Given the description of an element on the screen output the (x, y) to click on. 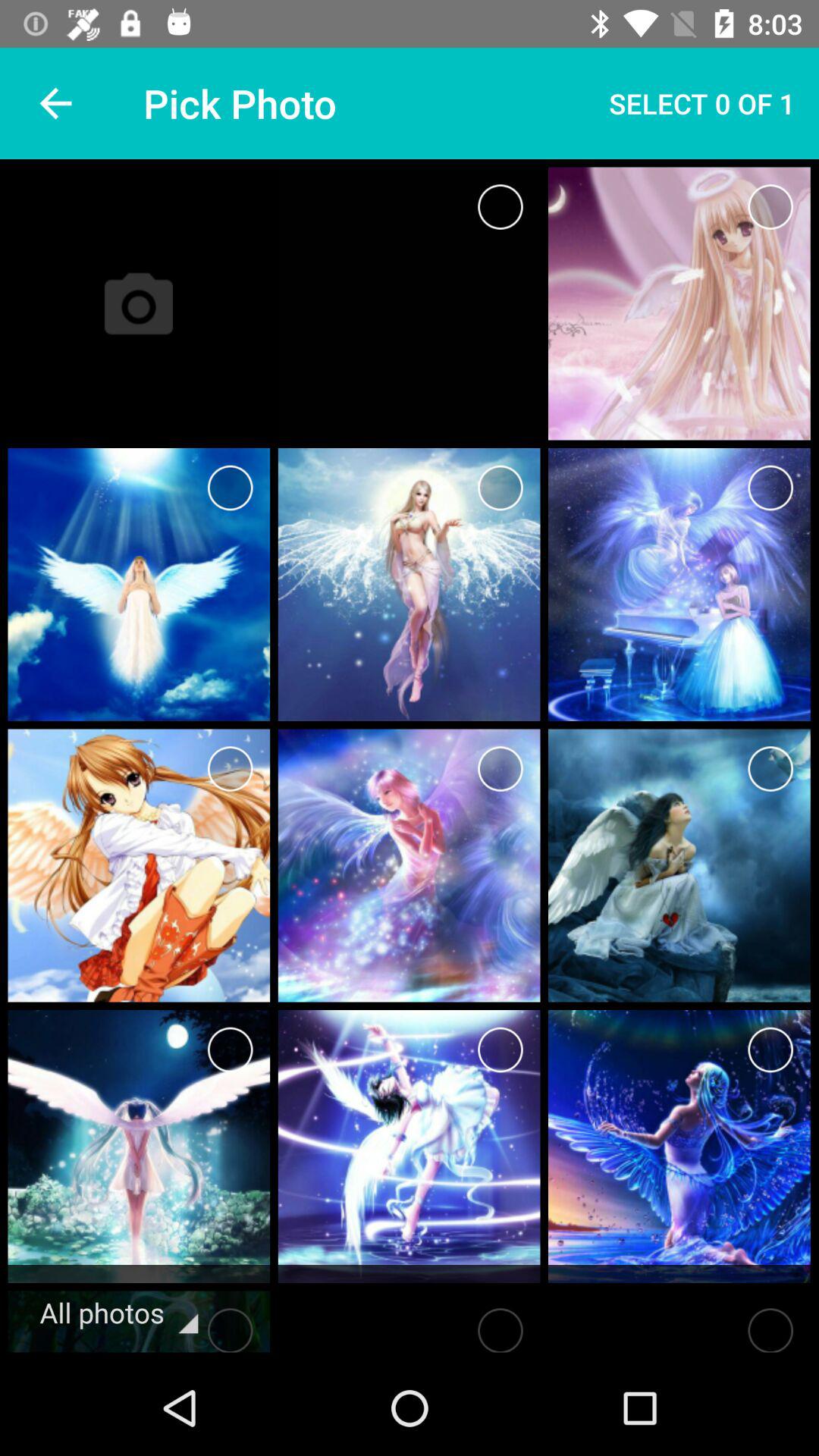
select photo (770, 1049)
